Given the description of an element on the screen output the (x, y) to click on. 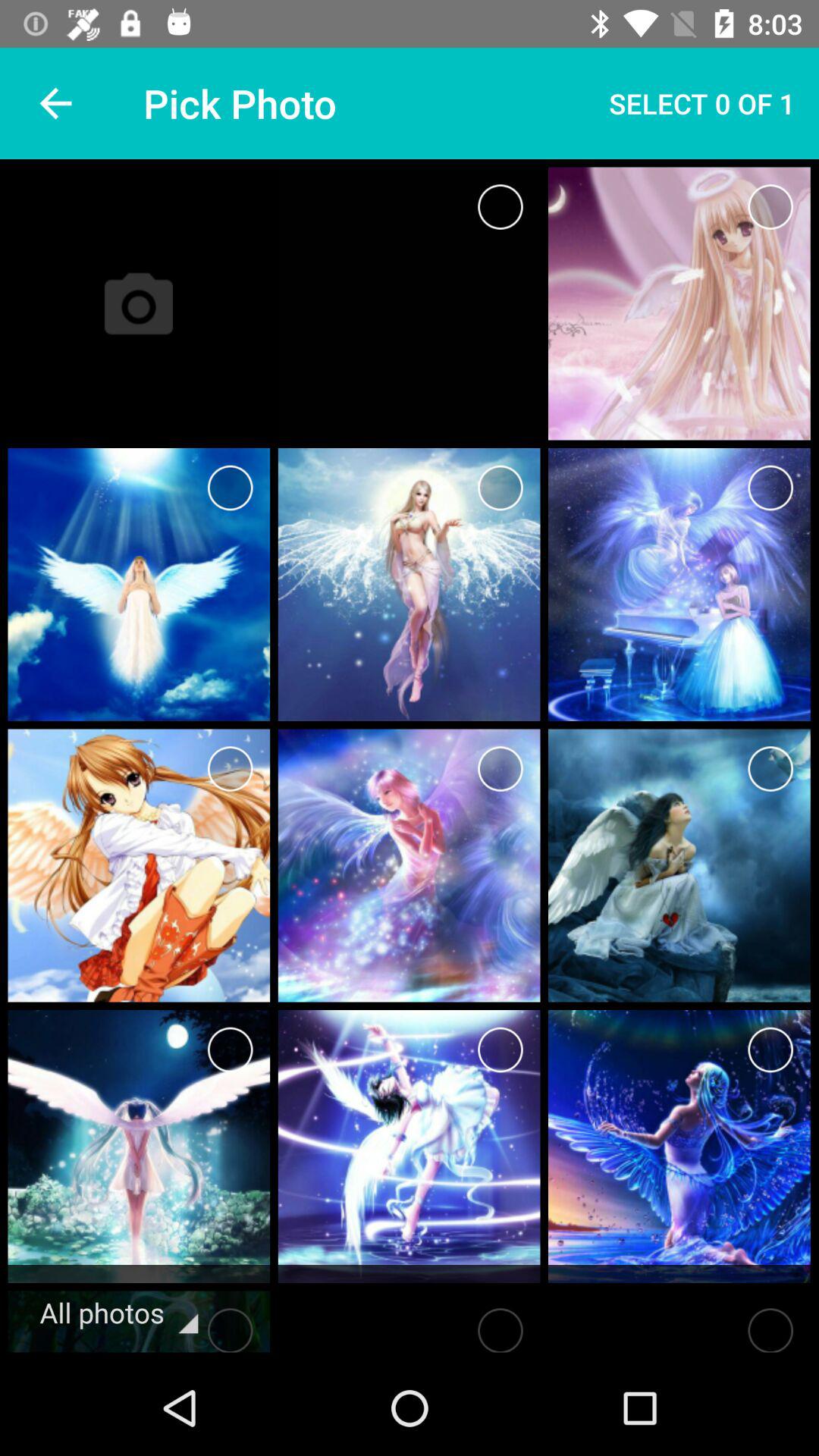
select photo (770, 1049)
